Given the description of an element on the screen output the (x, y) to click on. 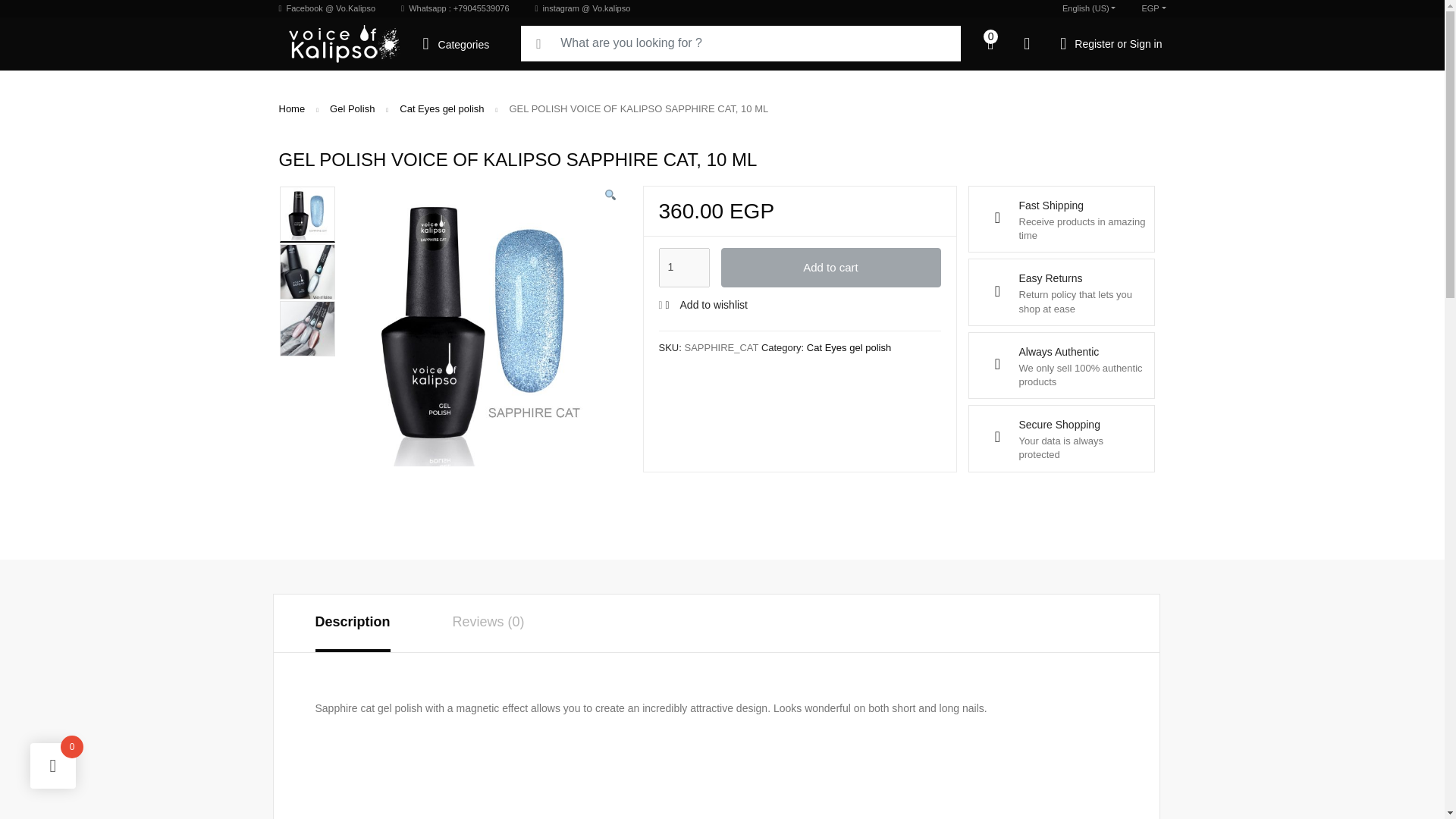
0 (989, 42)
Register or Sign in (1110, 42)
Search (17, 12)
EGP (1152, 8)
View your shopping cart (989, 42)
1 (683, 267)
Categories (461, 42)
